Given the description of an element on the screen output the (x, y) to click on. 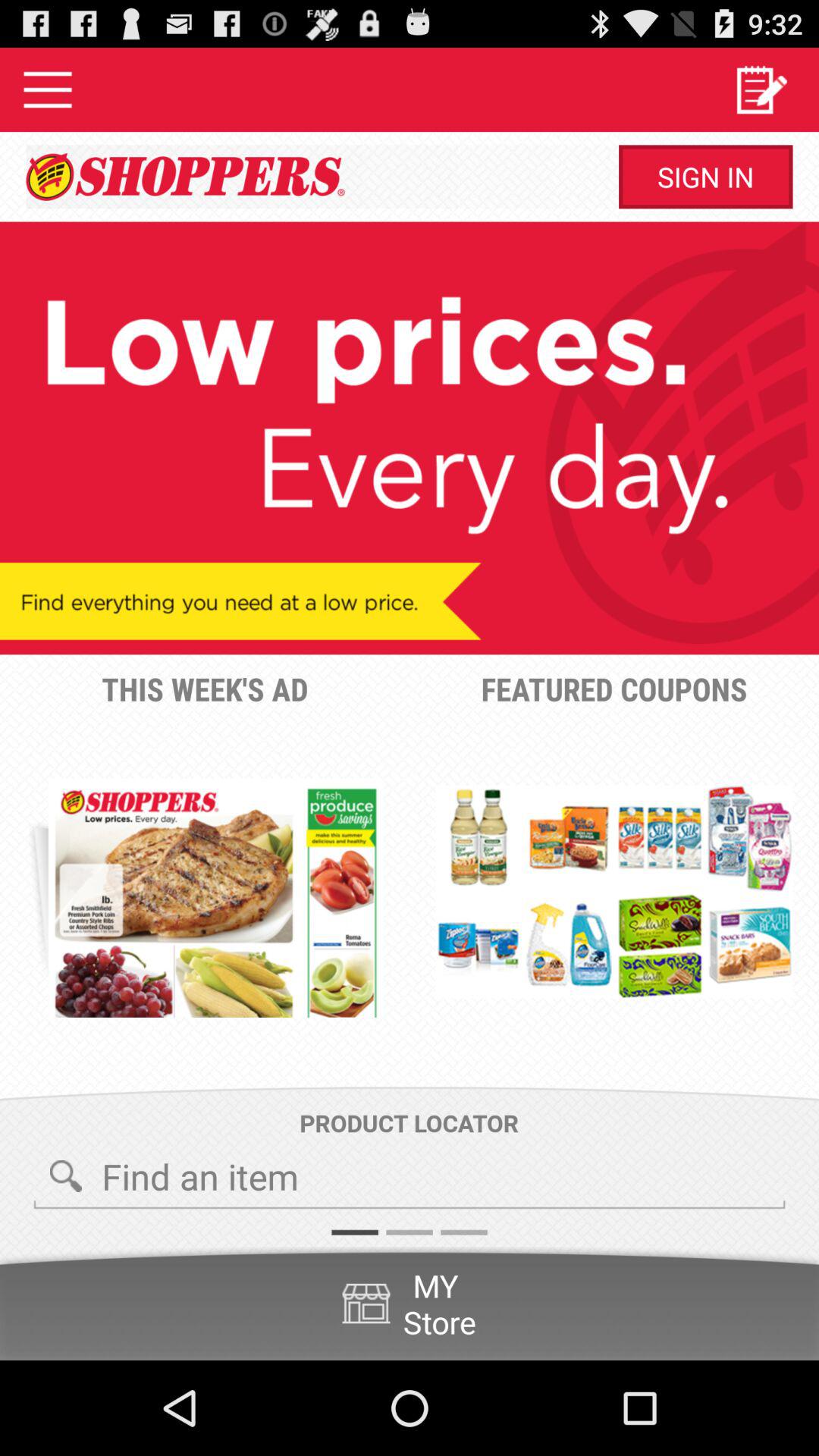
menu bar (47, 89)
